Given the description of an element on the screen output the (x, y) to click on. 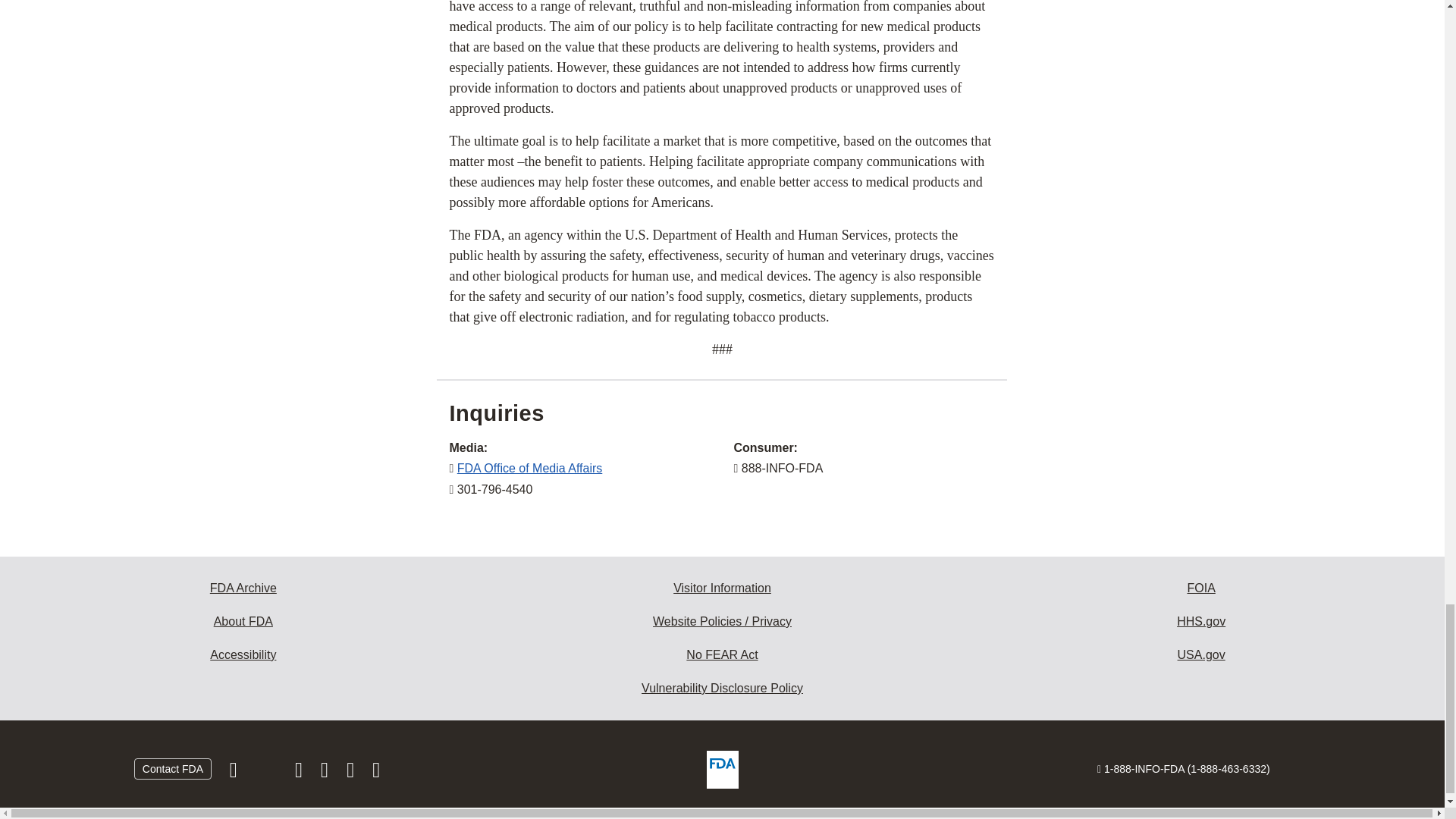
Health and Human Services (1200, 621)
Follow FDA on X (266, 773)
Subscribe to FDA RSS feeds (376, 773)
Follow FDA on Instagram (299, 773)
Freedom of Information Act (1200, 588)
View FDA videos on YouTube (352, 773)
Follow FDA on LinkedIn (326, 773)
Follow FDA on Facebook (234, 773)
